Given the description of an element on the screen output the (x, y) to click on. 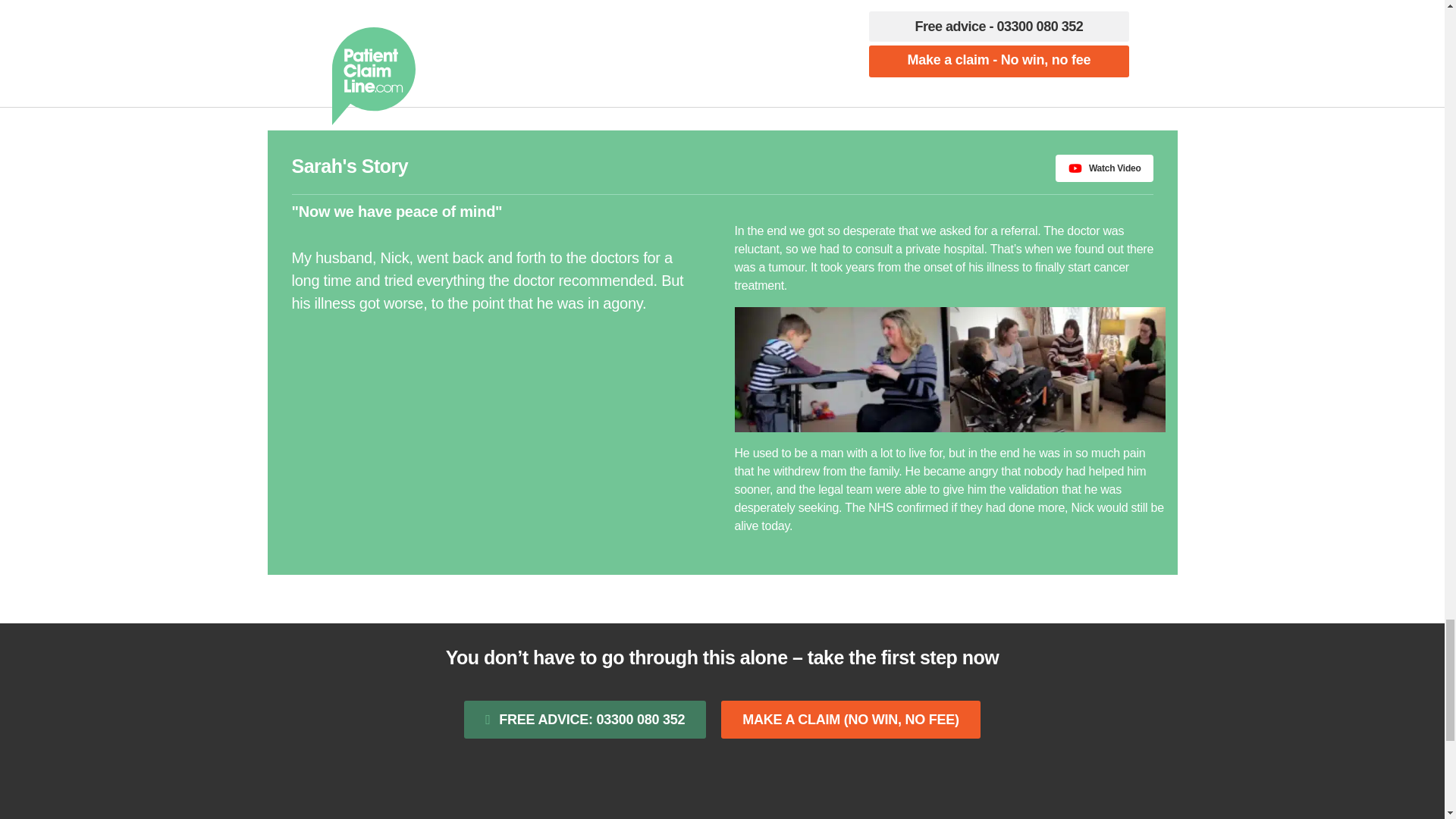
Customer reviews powered by Trustpilot (721, 790)
Watch Video (1104, 167)
FREE ADVICE: 03300 080 352 (585, 720)
